Given the description of an element on the screen output the (x, y) to click on. 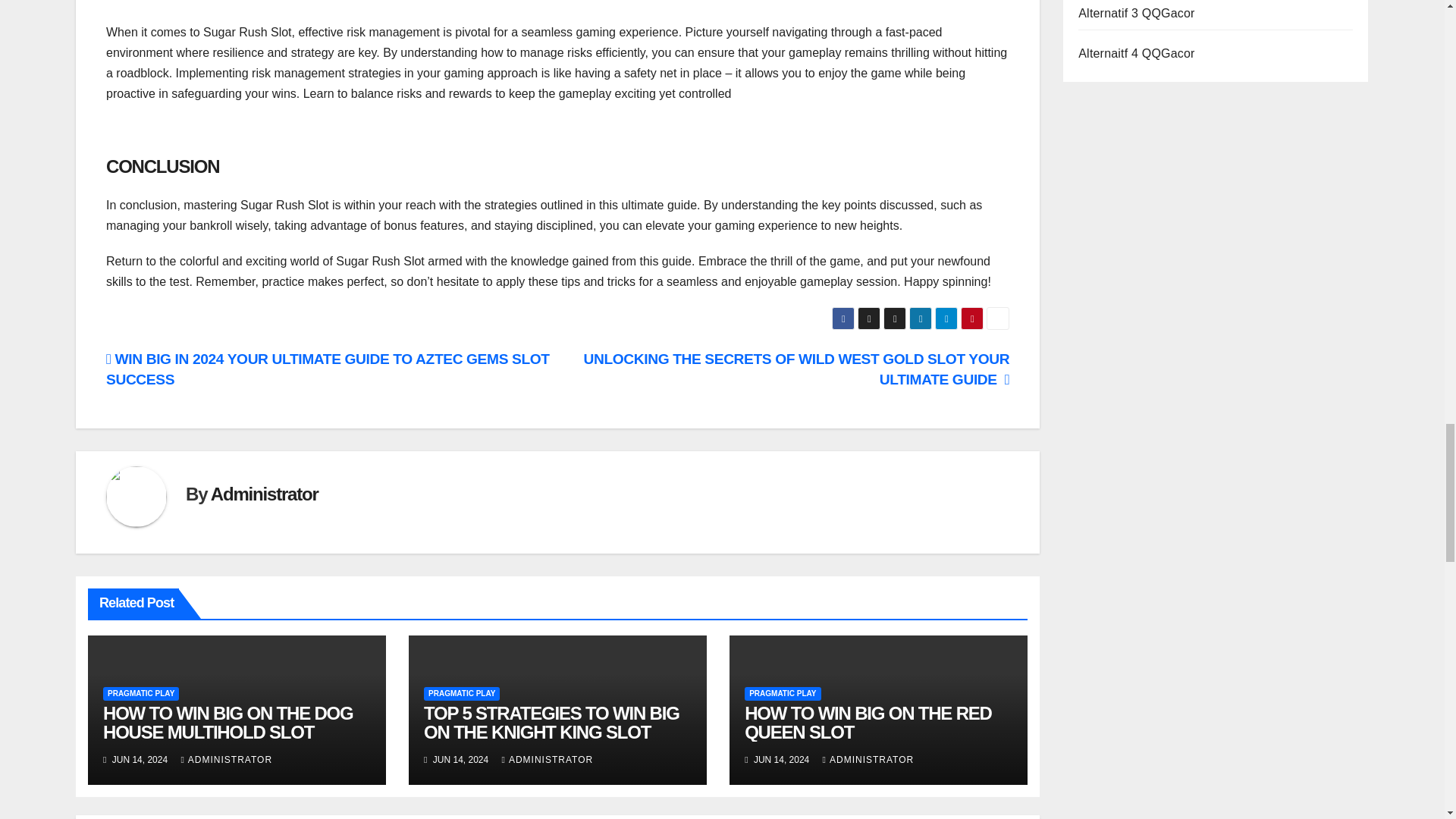
Permalink to: HOW TO WIN BIG ON THE RED QUEEN SLOT (867, 722)
Permalink to: HOW TO WIN BIG ON THE DOG HOUSE MULTIHOLD SLOT (228, 722)
